Given the description of an element on the screen output the (x, y) to click on. 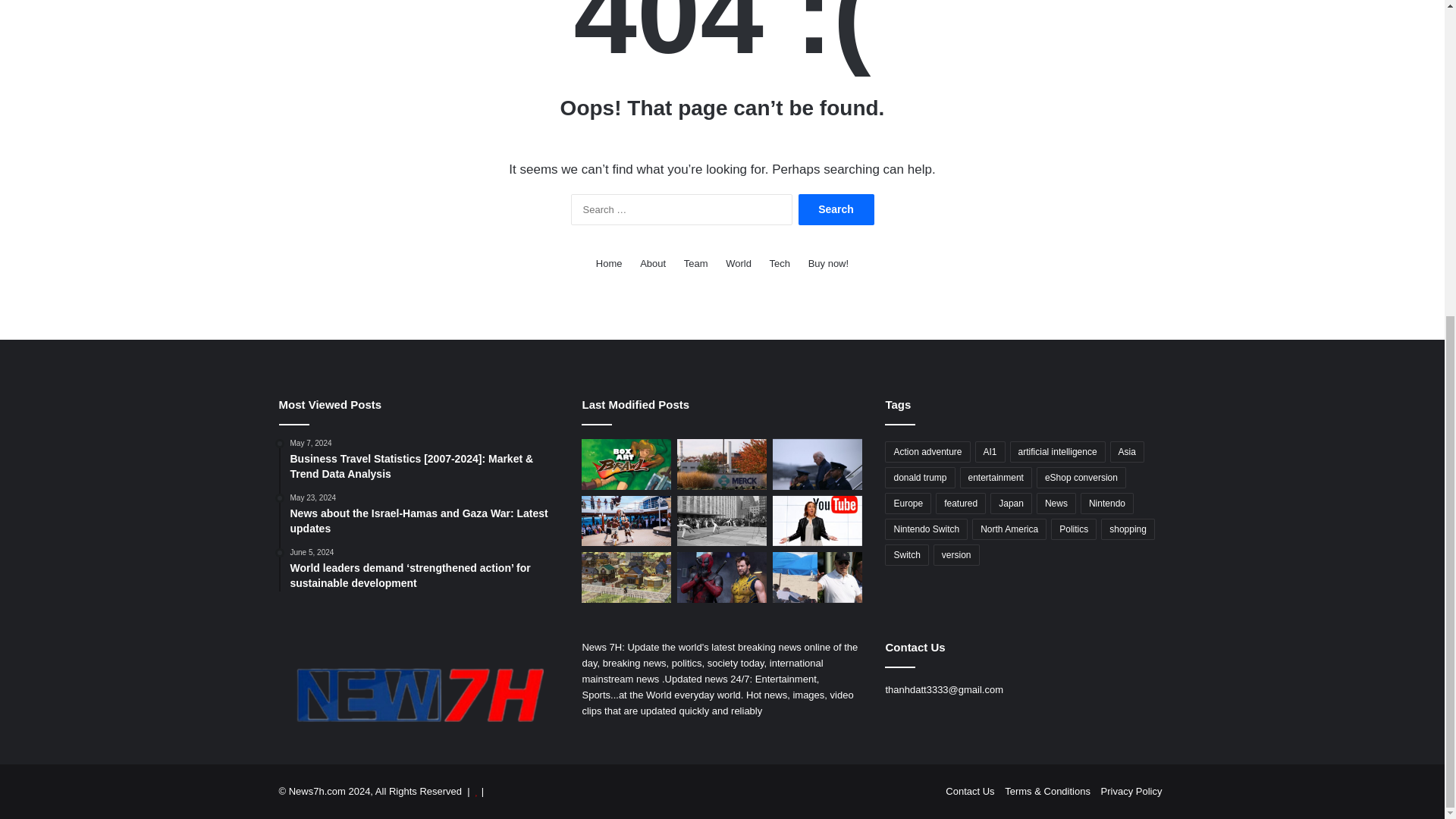
Action adventure (927, 451)
Search (835, 209)
World (738, 263)
eShop conversion (1080, 477)
donald trump (920, 477)
Asia (1126, 451)
Tech (780, 263)
Buy now! (828, 263)
Search (835, 209)
Home (609, 263)
